Given the description of an element on the screen output the (x, y) to click on. 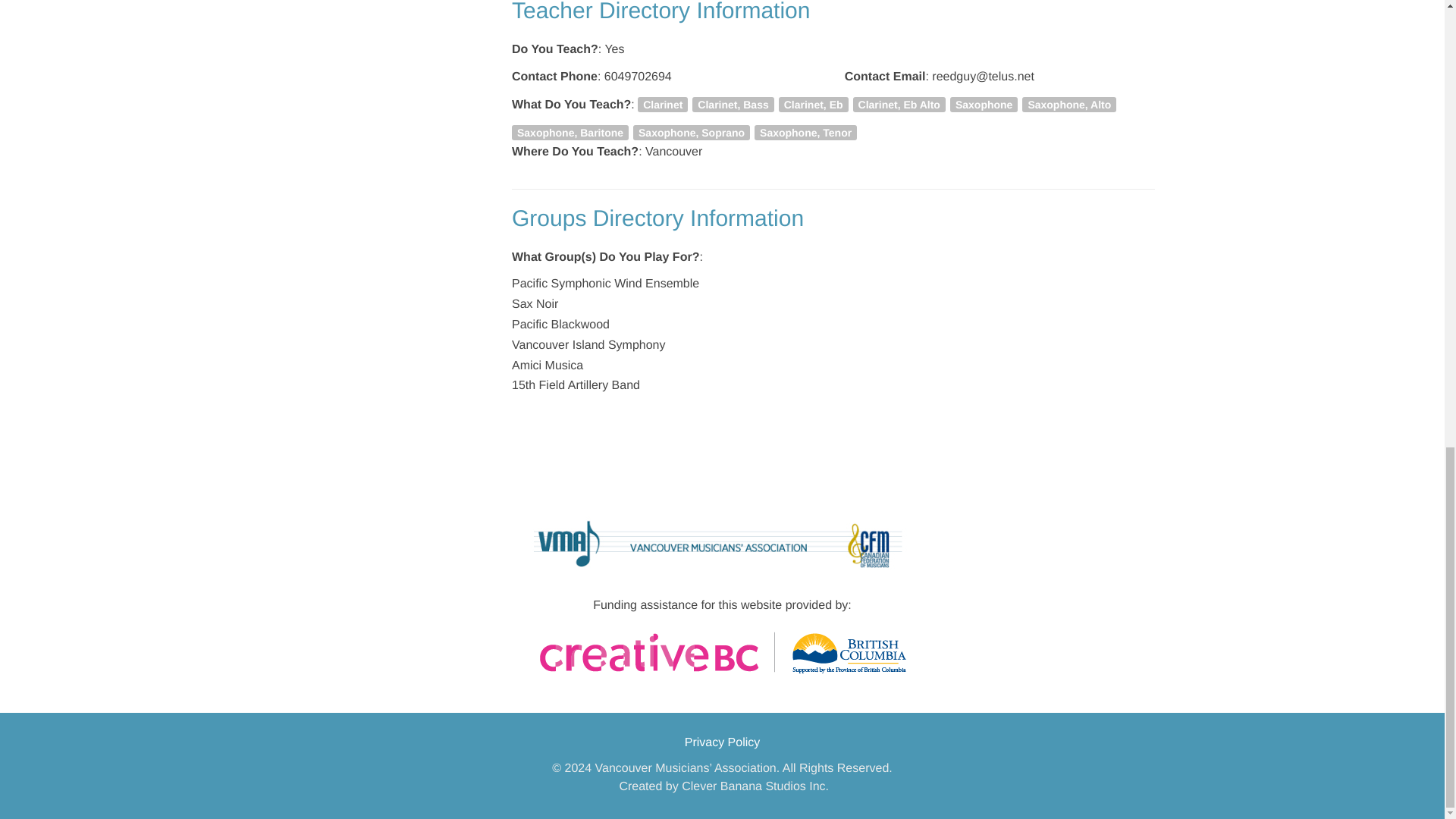
translation missing: en.musicians.profile.yes (614, 49)
